Given the description of an element on the screen output the (x, y) to click on. 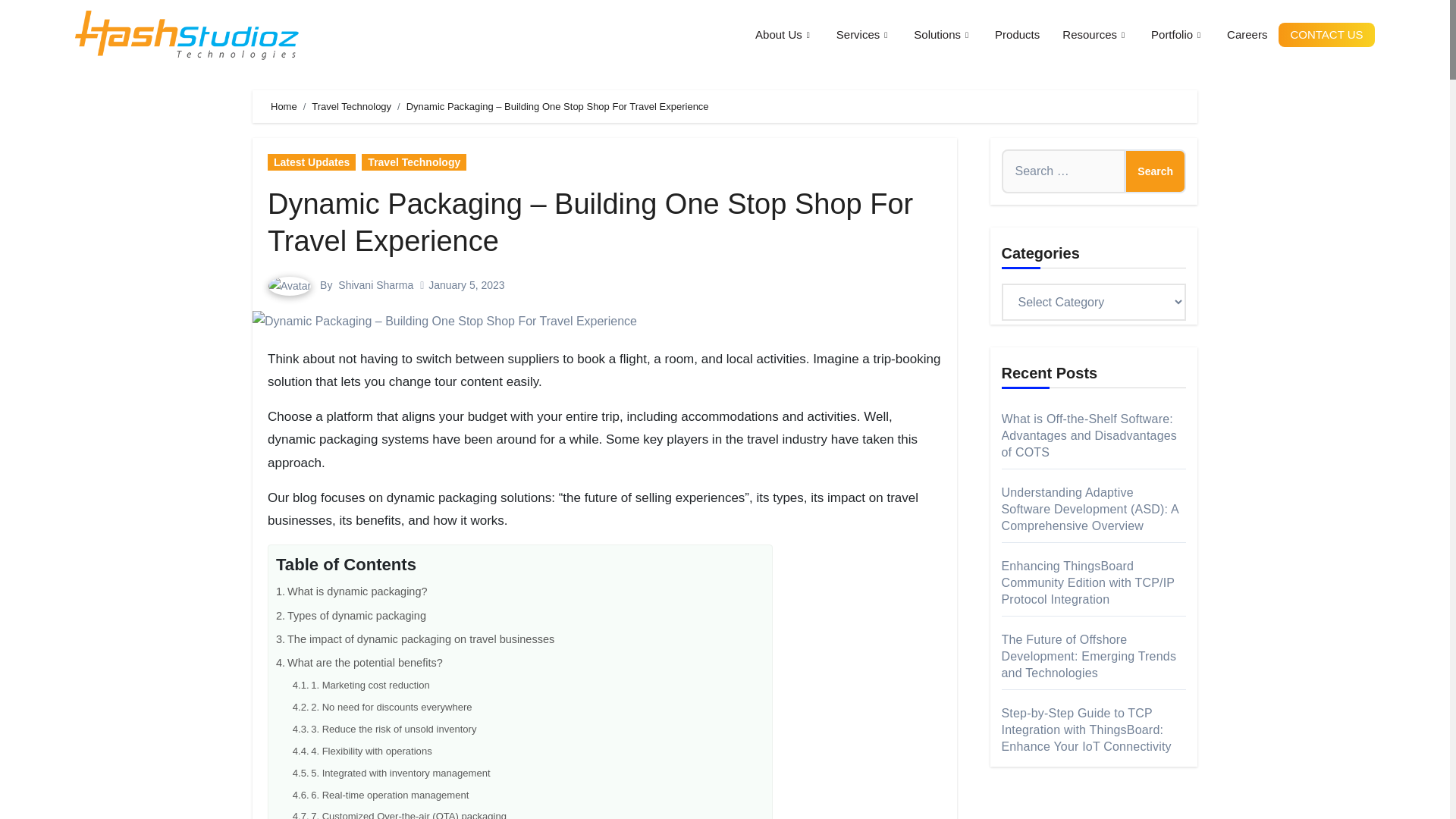
5. Integrated with inventory management (391, 771)
Search (1155, 171)
Types of dynamic packaging (351, 612)
What are the potential benefits? (359, 659)
2. No need for discounts everywhere (381, 704)
What is dynamic packaging? (352, 588)
3. Reduce the risk of unsold inventory (384, 726)
Search (1155, 171)
Services (863, 34)
4. Flexibility with operations (362, 748)
